Given the description of an element on the screen output the (x, y) to click on. 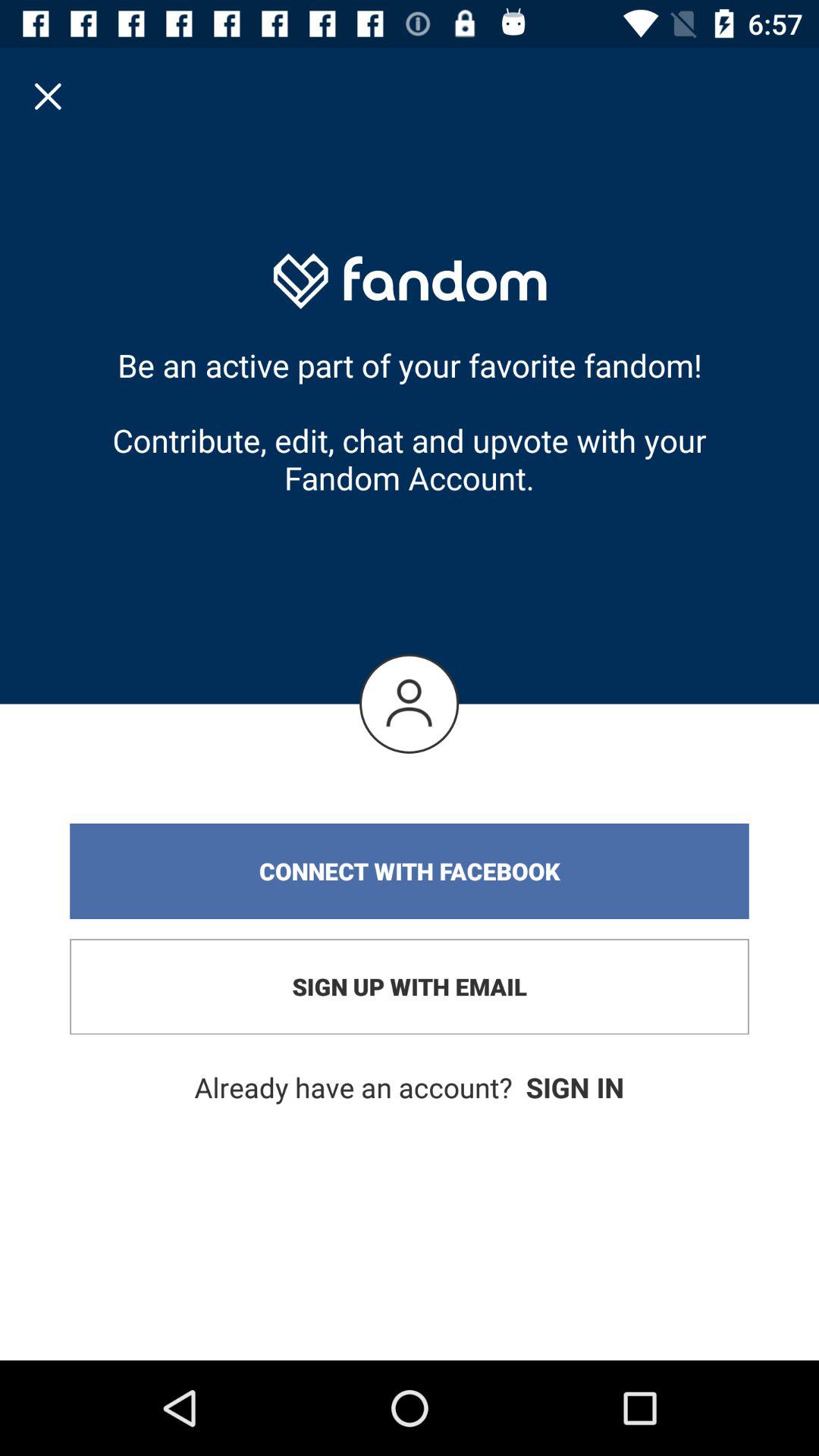
scroll to the already have an icon (409, 1087)
